Given the description of an element on the screen output the (x, y) to click on. 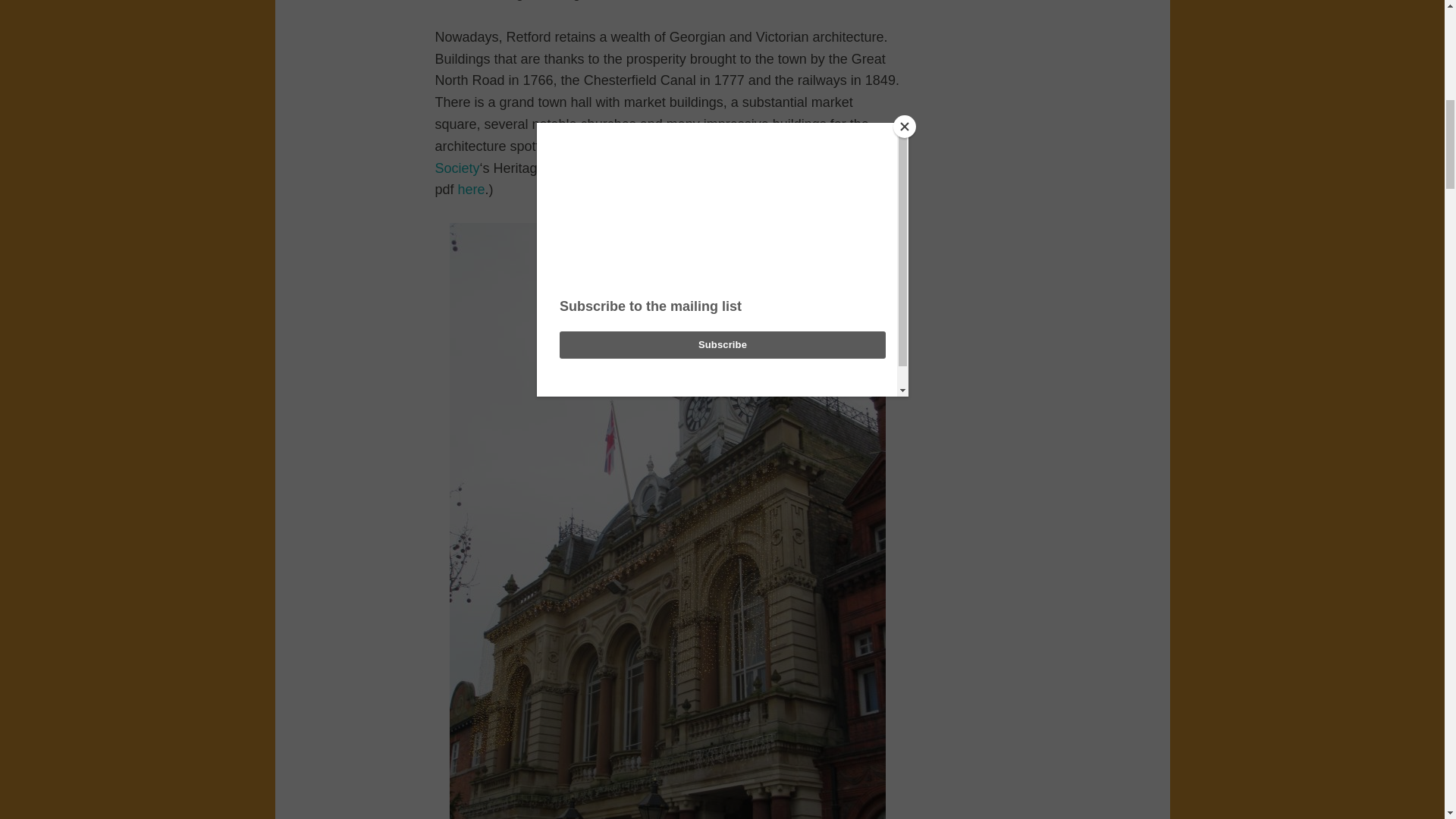
Retford Civic Society (643, 157)
here (471, 189)
